Given the description of an element on the screen output the (x, y) to click on. 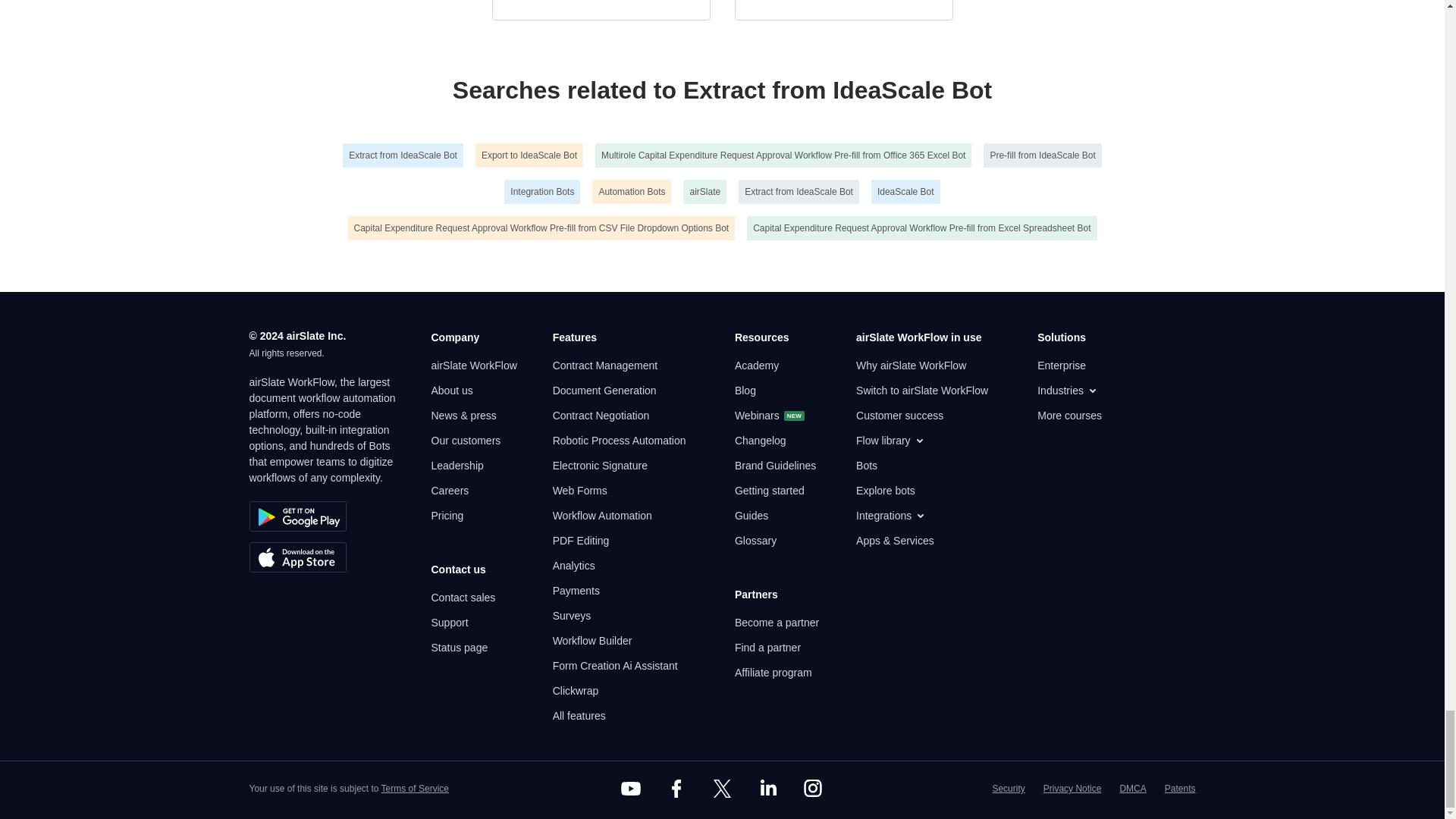
Facebook (676, 788)
LinkedIn (767, 788)
Twitter (721, 788)
YouTube (630, 788)
Instagram (812, 788)
